Given the description of an element on the screen output the (x, y) to click on. 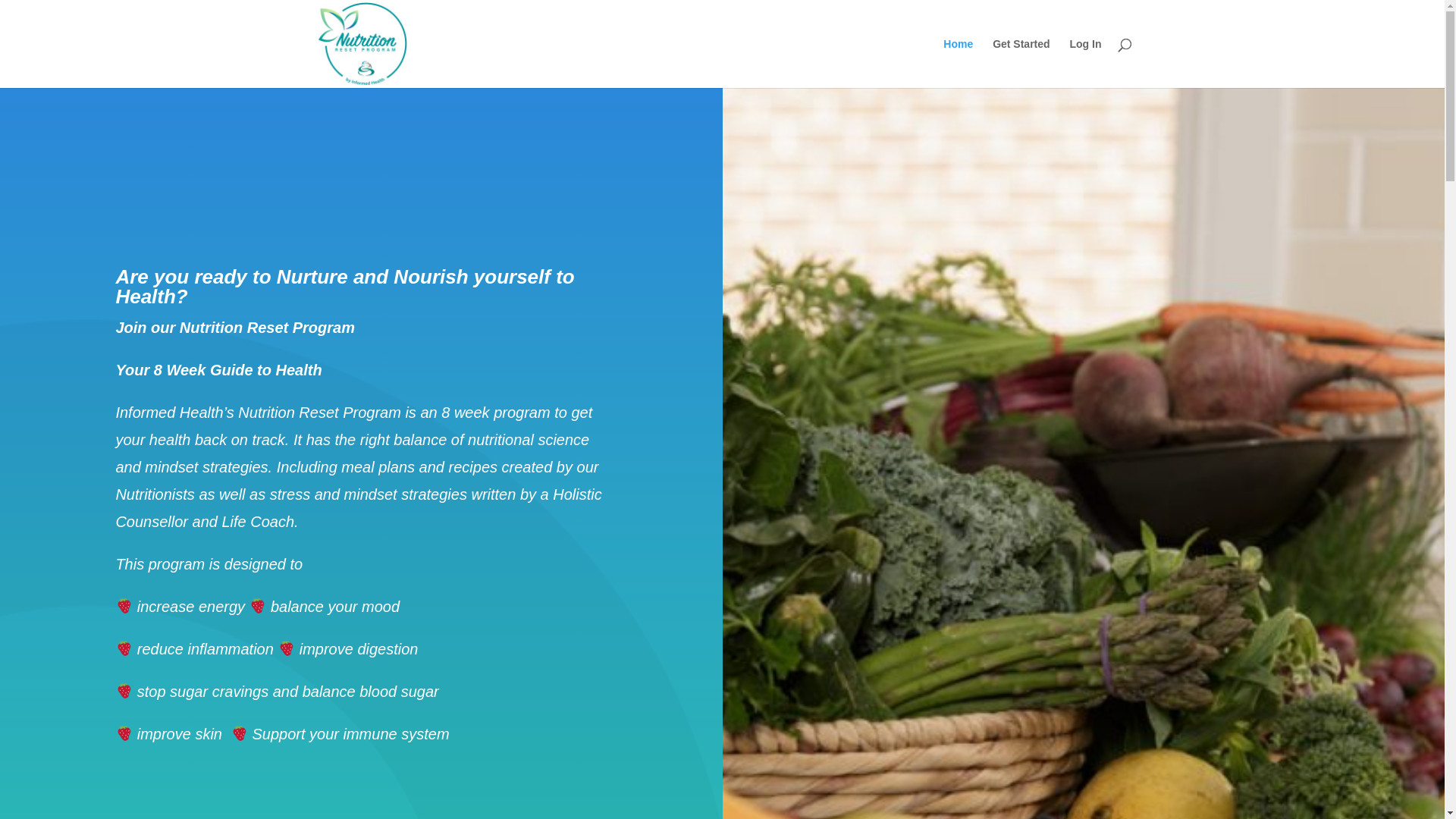
Home Element type: text (957, 62)
Log In Element type: text (1085, 62)
Get Started Element type: text (1020, 62)
